Given the description of an element on the screen output the (x, y) to click on. 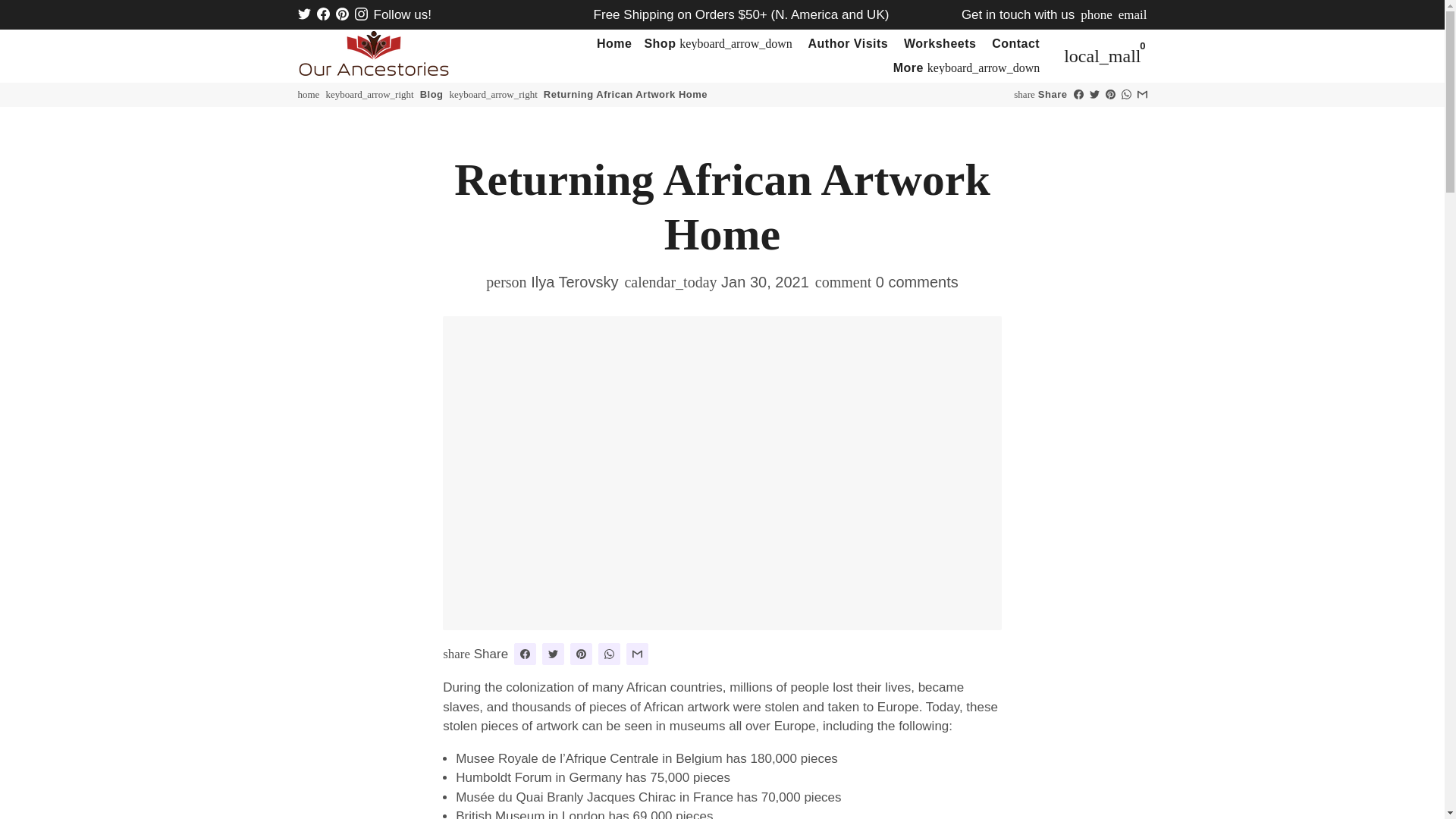
Home (614, 43)
Our Ancestories on Twitter (303, 14)
phone (1096, 14)
Our Ancestories on Facebook (323, 14)
Cart (1102, 55)
email (1132, 14)
Our Ancestories on Pinterest (340, 14)
4162719976 (1096, 14)
Our Ancestories on Instagram (361, 14)
